Given the description of an element on the screen output the (x, y) to click on. 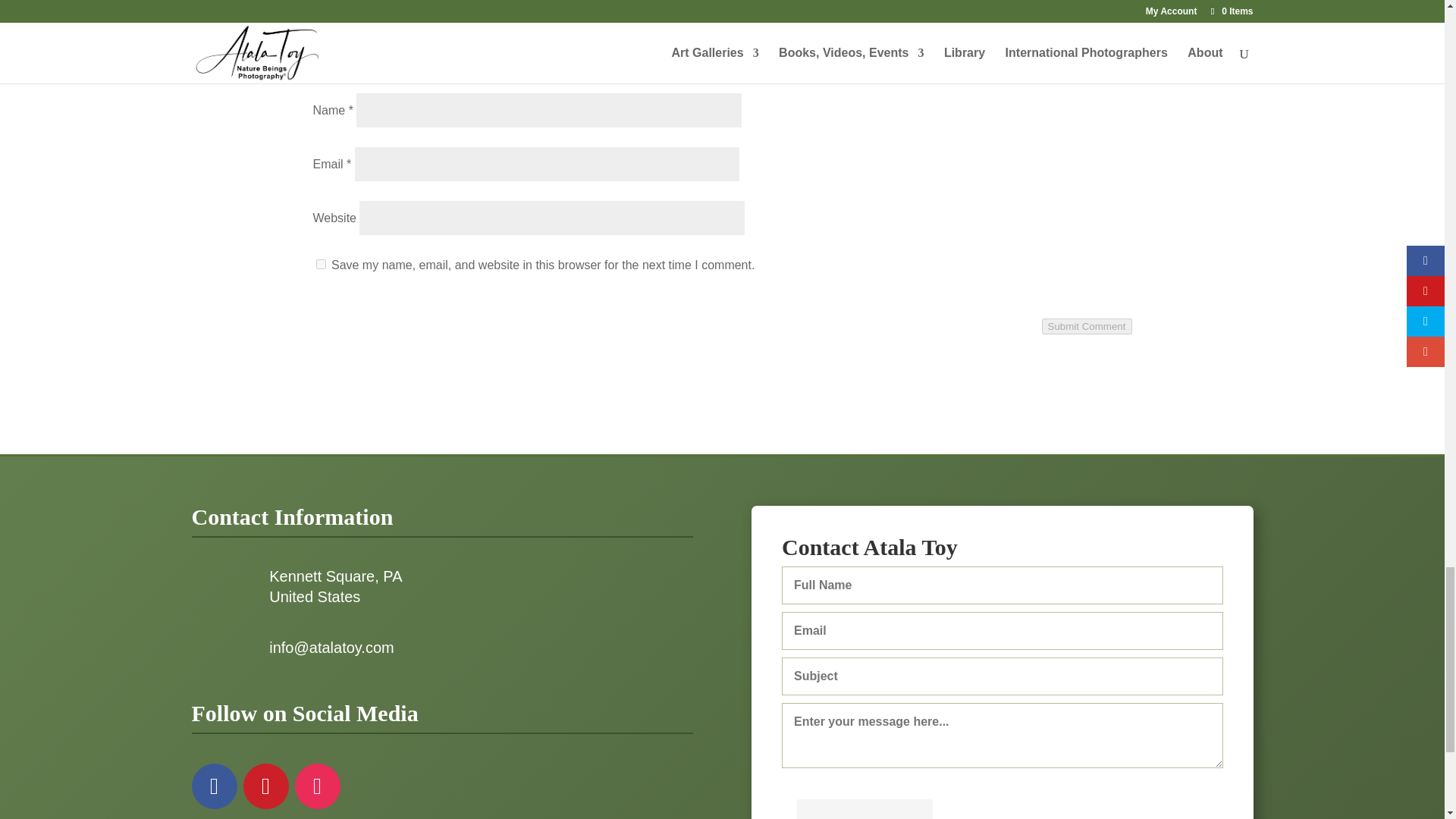
Follow on Pinterest (265, 786)
Follow on Instagram (316, 786)
Send Message (864, 809)
Follow on Facebook (212, 786)
yes (319, 264)
